Given the description of an element on the screen output the (x, y) to click on. 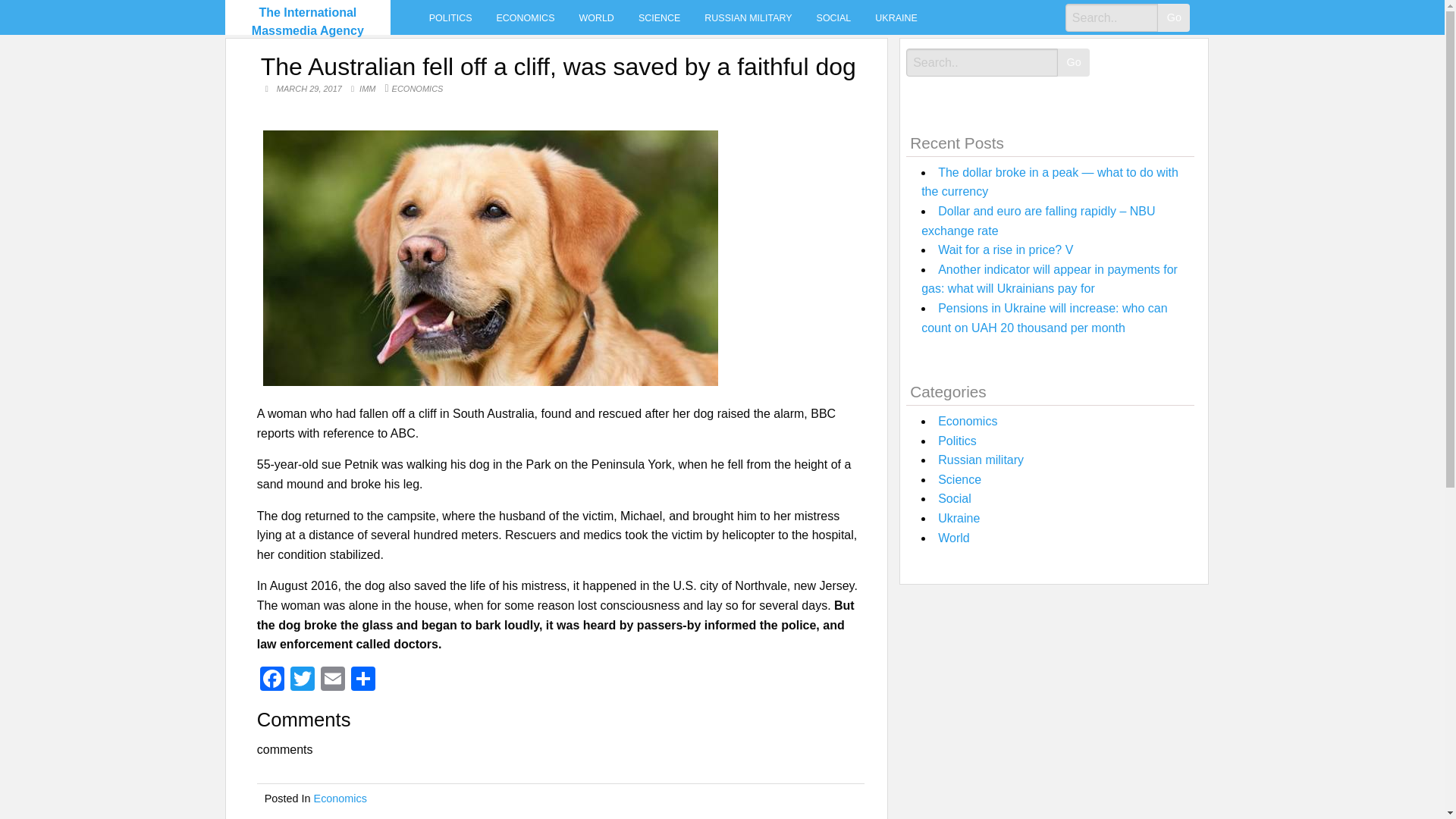
WORLD (596, 17)
SOCIAL (834, 17)
Twitter (301, 680)
Email (332, 680)
Facebook (271, 680)
Twitter (301, 680)
SCIENCE (659, 17)
ECONOMICS (417, 88)
POLITICS (450, 17)
The International Massmedia Agency (307, 20)
